Given the description of an element on the screen output the (x, y) to click on. 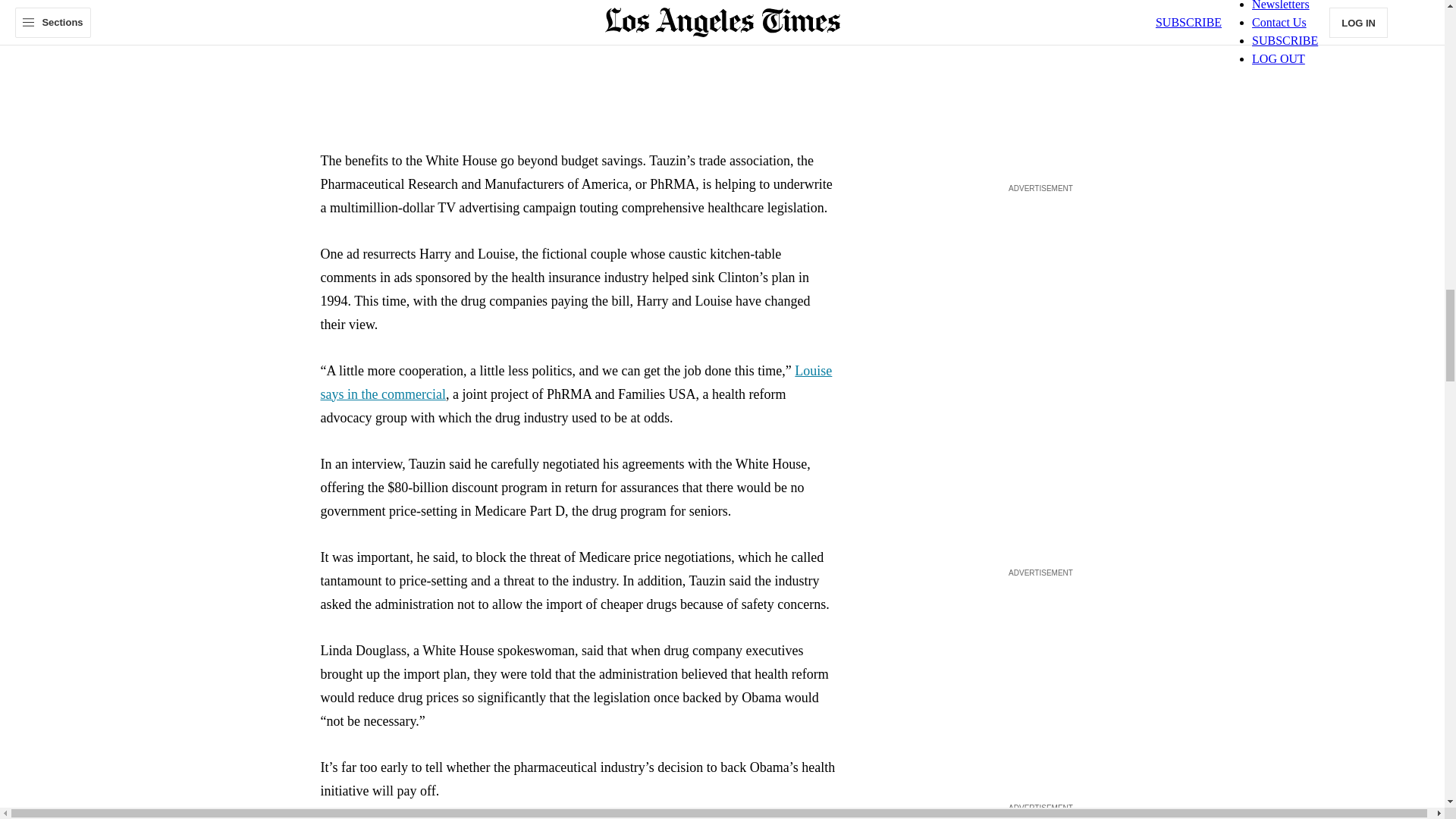
3rd party ad content (1040, 291)
